Given the description of an element on the screen output the (x, y) to click on. 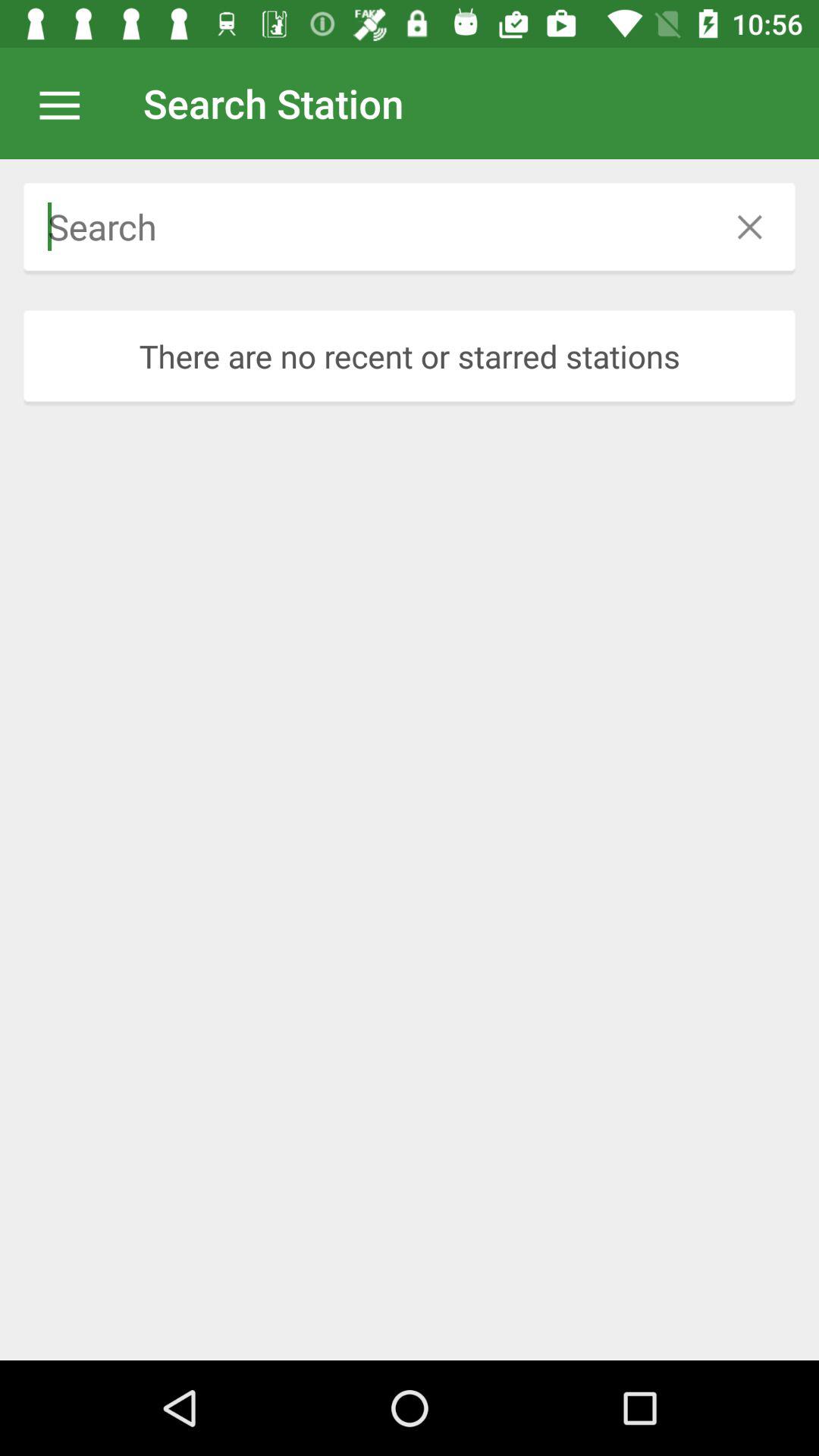
enter search (363, 226)
